Given the description of an element on the screen output the (x, y) to click on. 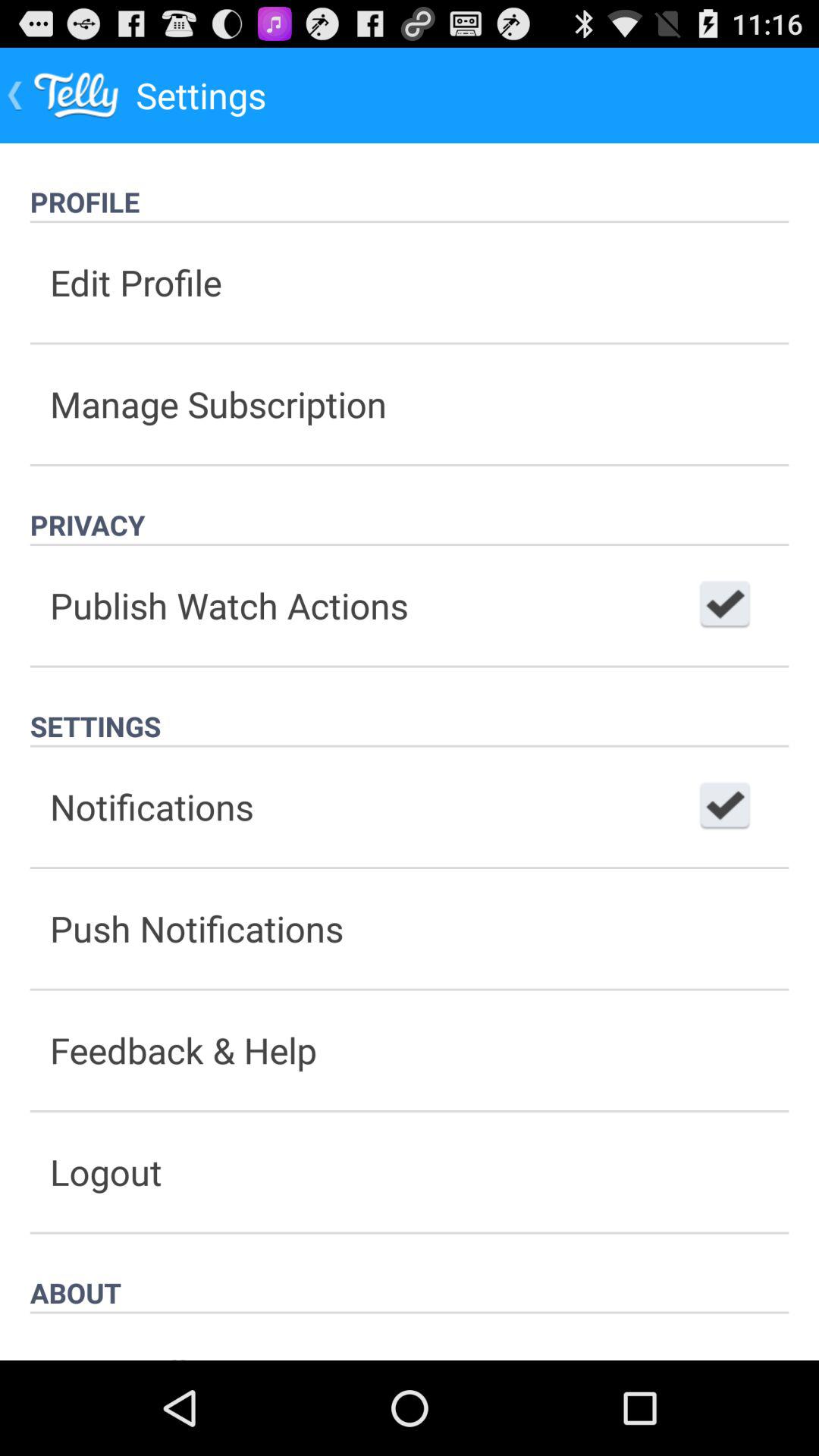
click the rate telly item (409, 1336)
